Given the description of an element on the screen output the (x, y) to click on. 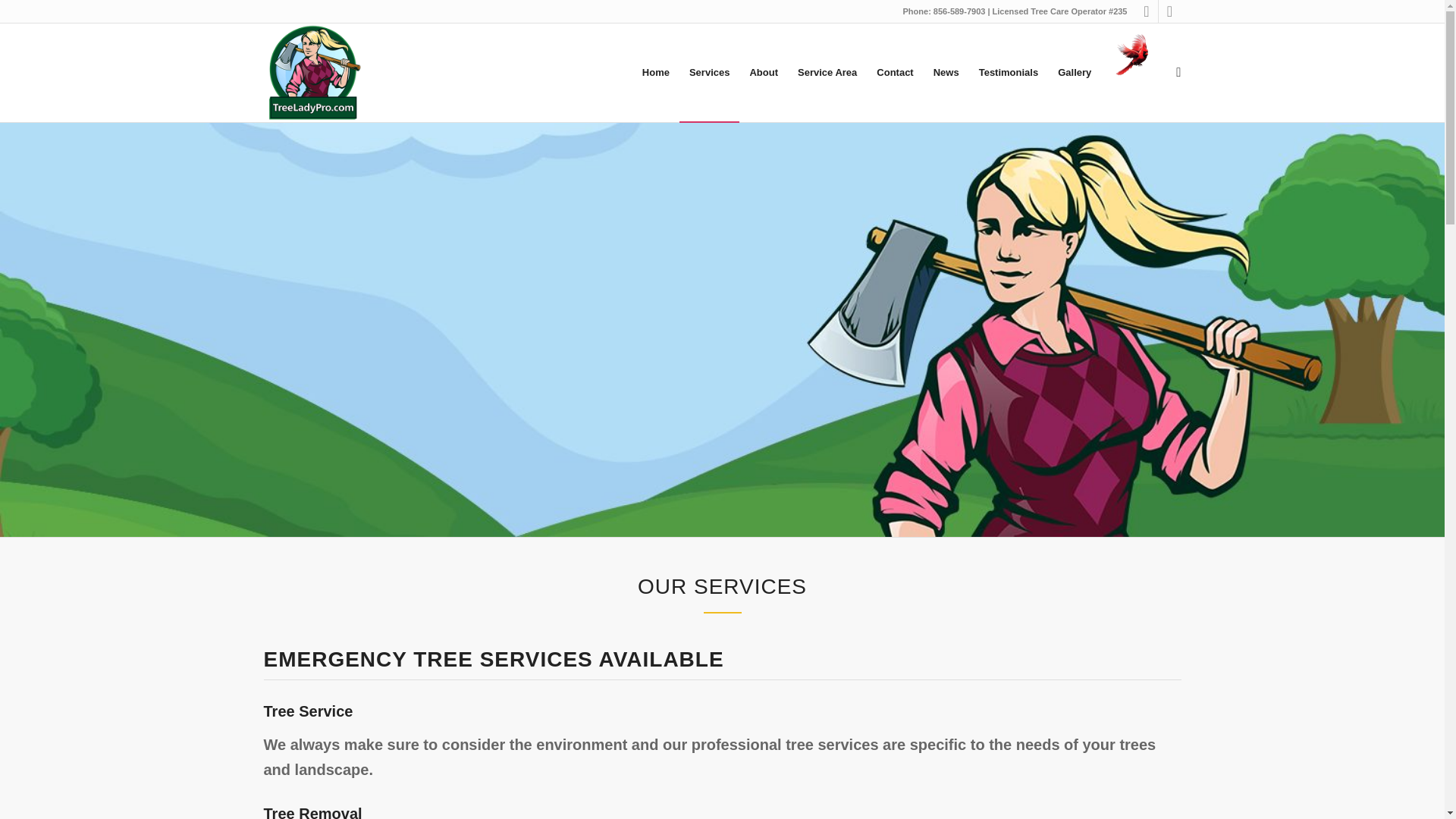
Facebook (1146, 11)
EMERGENCY TREE SERVICES AVAILABLE (493, 658)
856-589-7903 (959, 10)
Instagram (1169, 11)
